Given the description of an element on the screen output the (x, y) to click on. 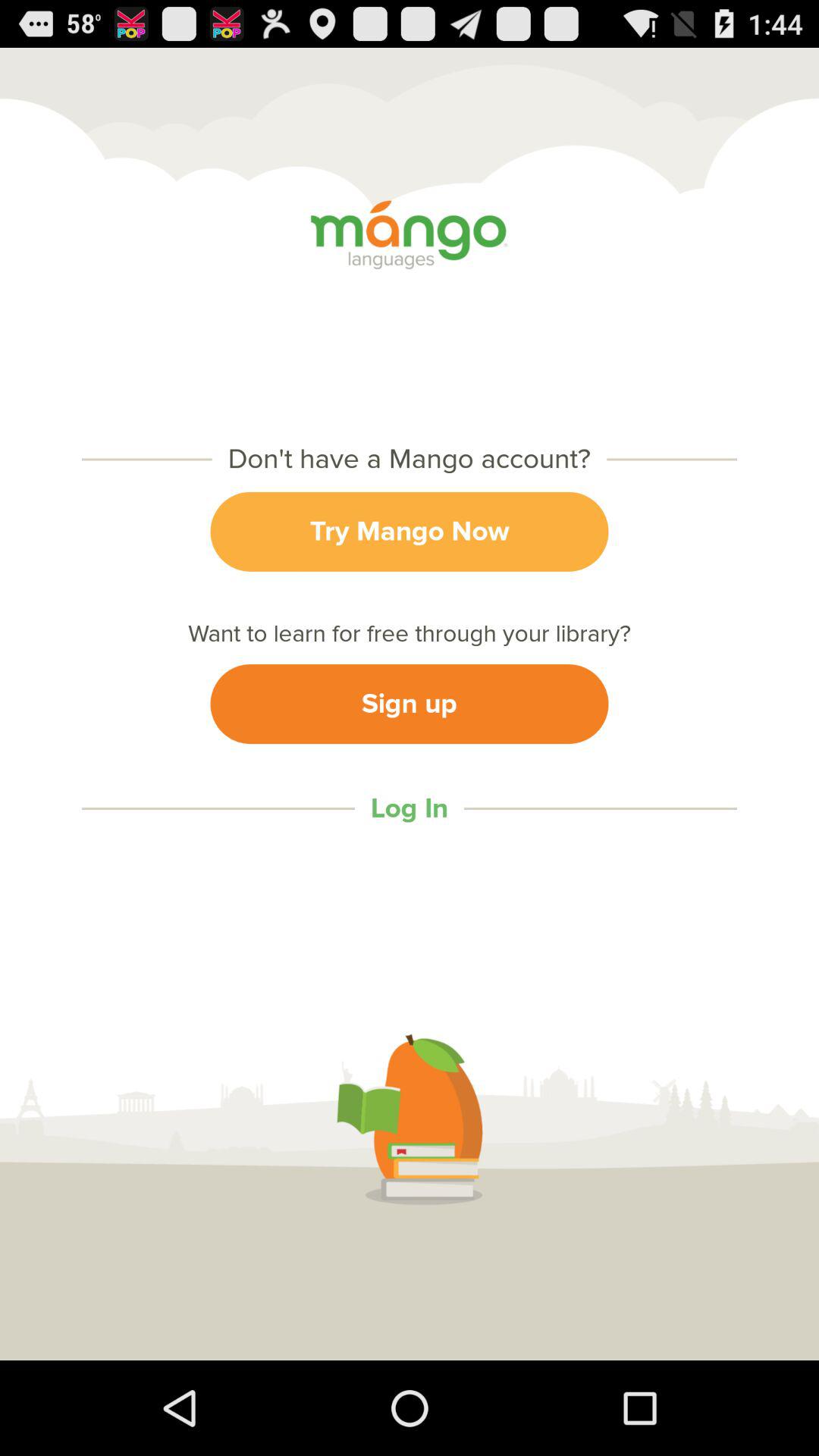
open log in icon (409, 808)
